Given the description of an element on the screen output the (x, y) to click on. 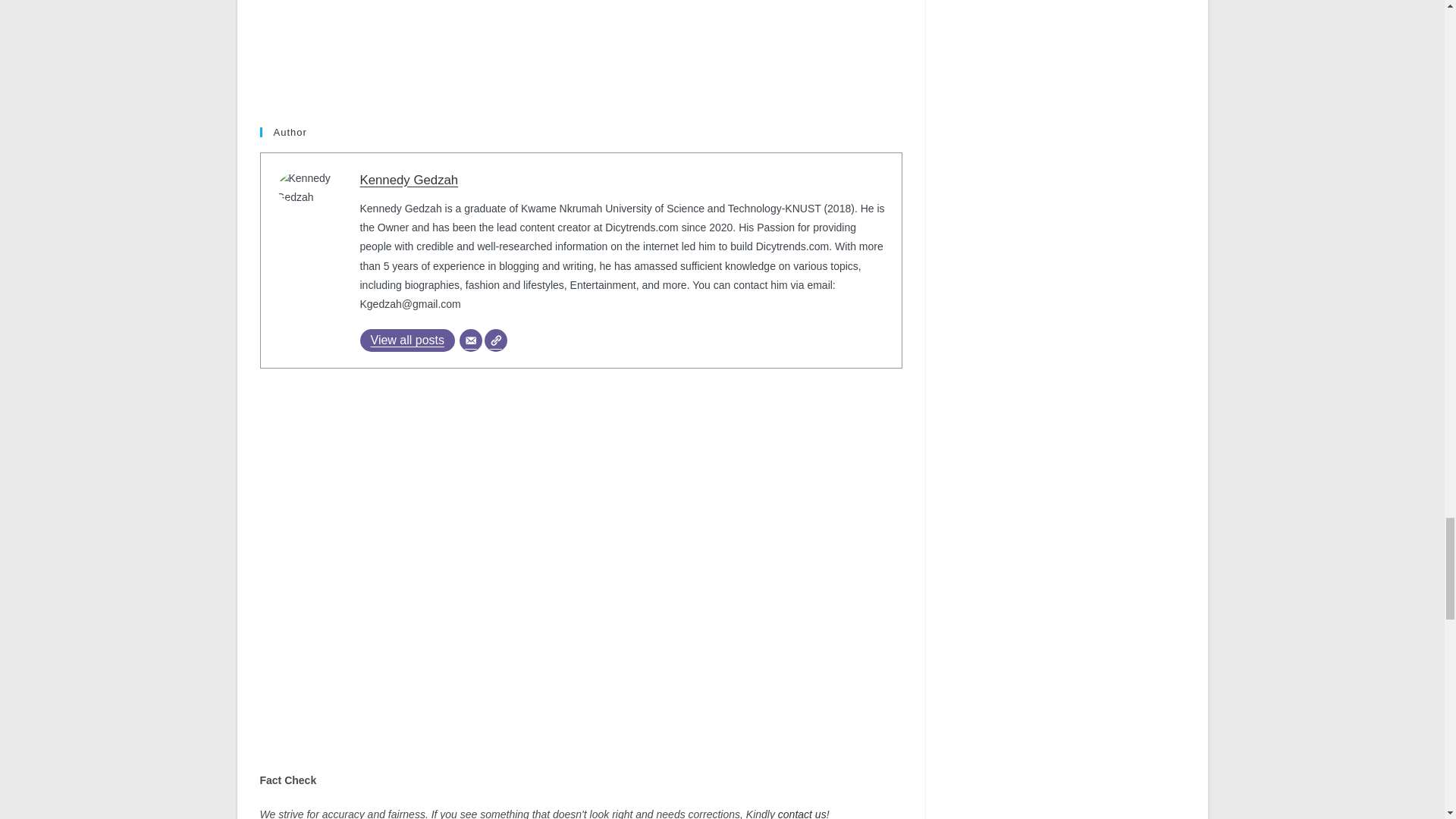
Kennedy Gedzah (408, 179)
Kennedy Gedzah (408, 179)
View all posts (406, 340)
View all posts (406, 340)
